Given the description of an element on the screen output the (x, y) to click on. 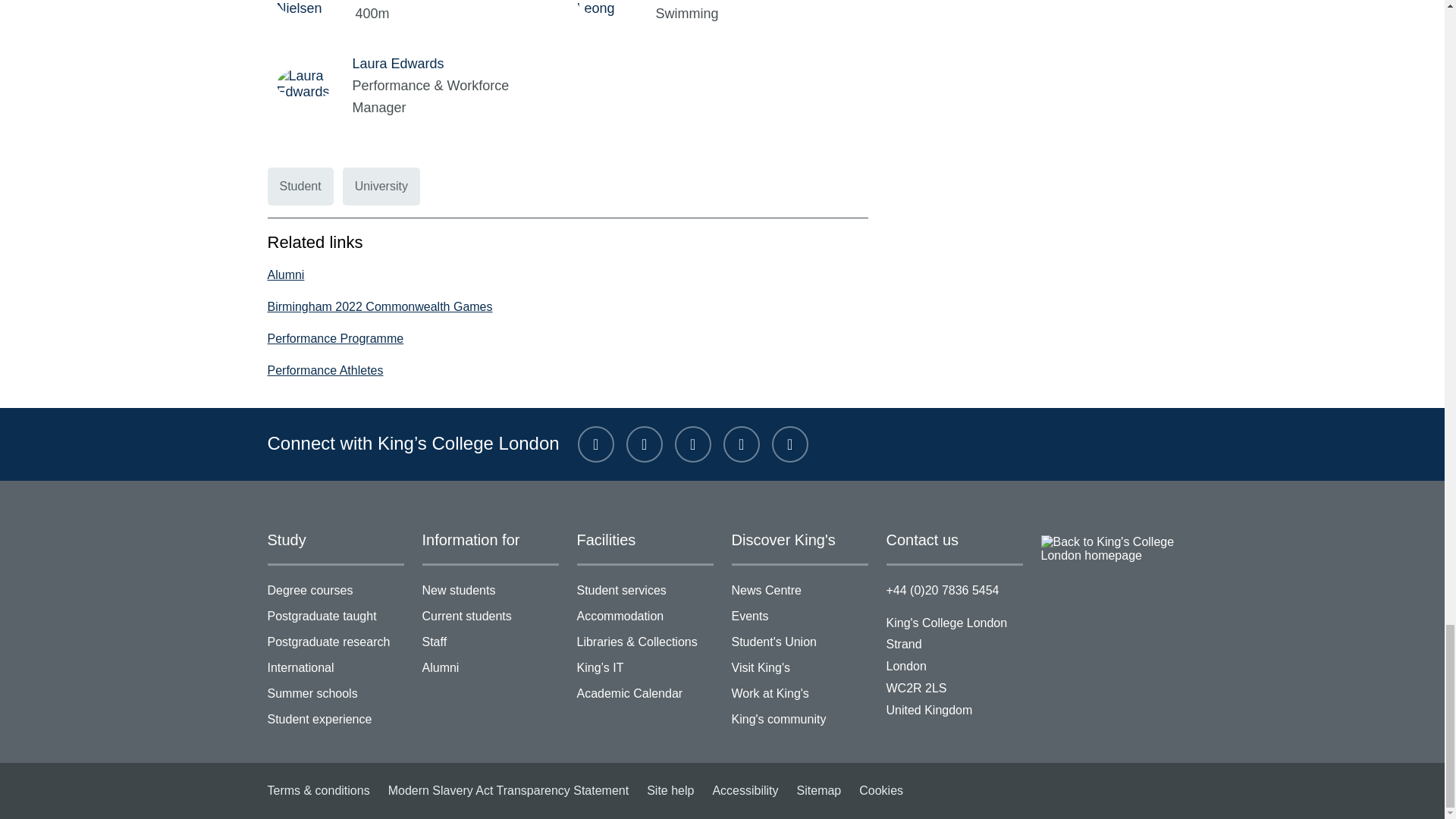
 Laviai Nielsen  (315, 8)
 Laura Edwards  (314, 83)
 Bryan  Leong  (615, 8)
